Given the description of an element on the screen output the (x, y) to click on. 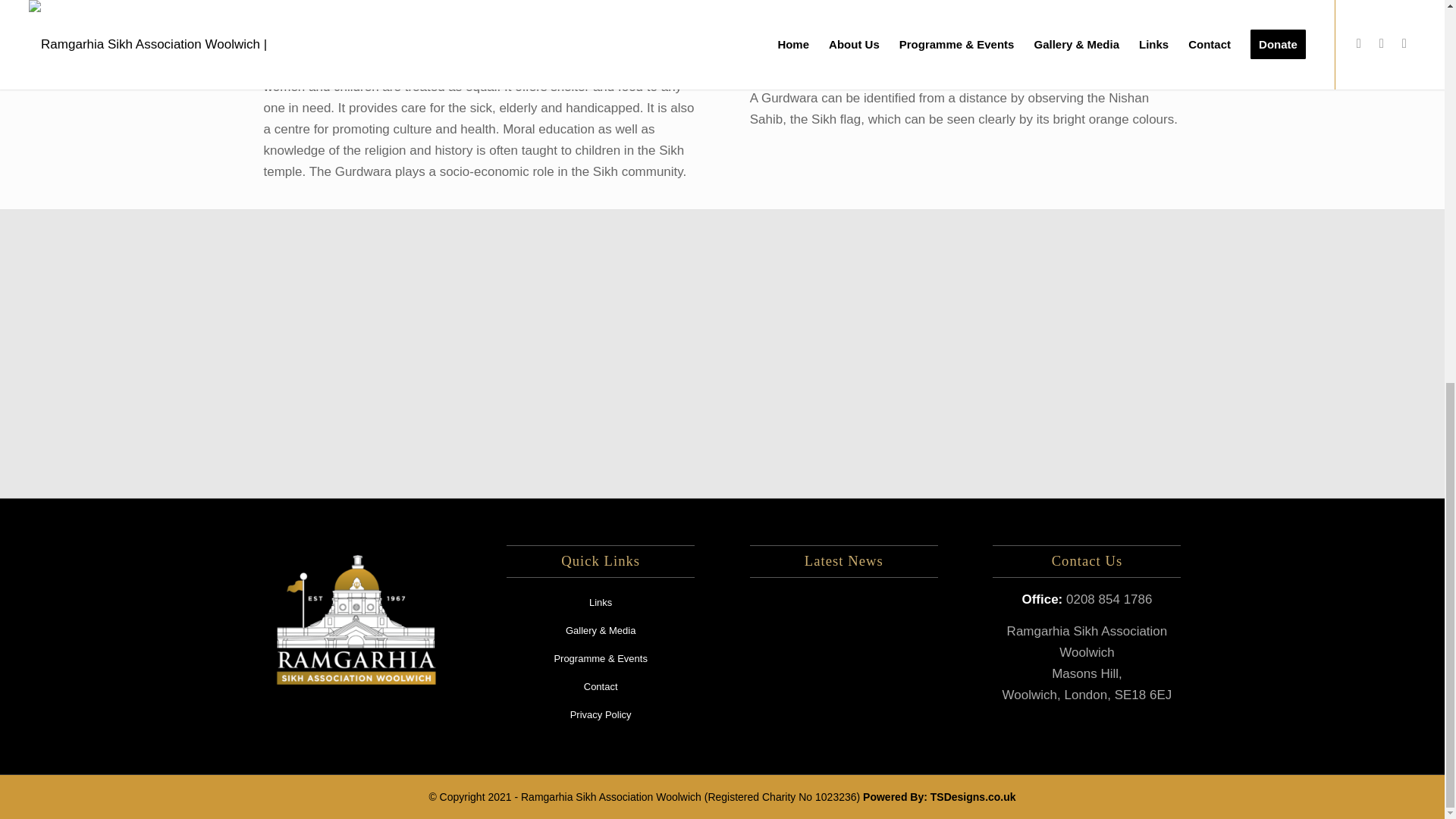
TSDesigns.co.uk (973, 797)
Contact (600, 687)
Links (600, 602)
Privacy Policy (600, 715)
